Given the description of an element on the screen output the (x, y) to click on. 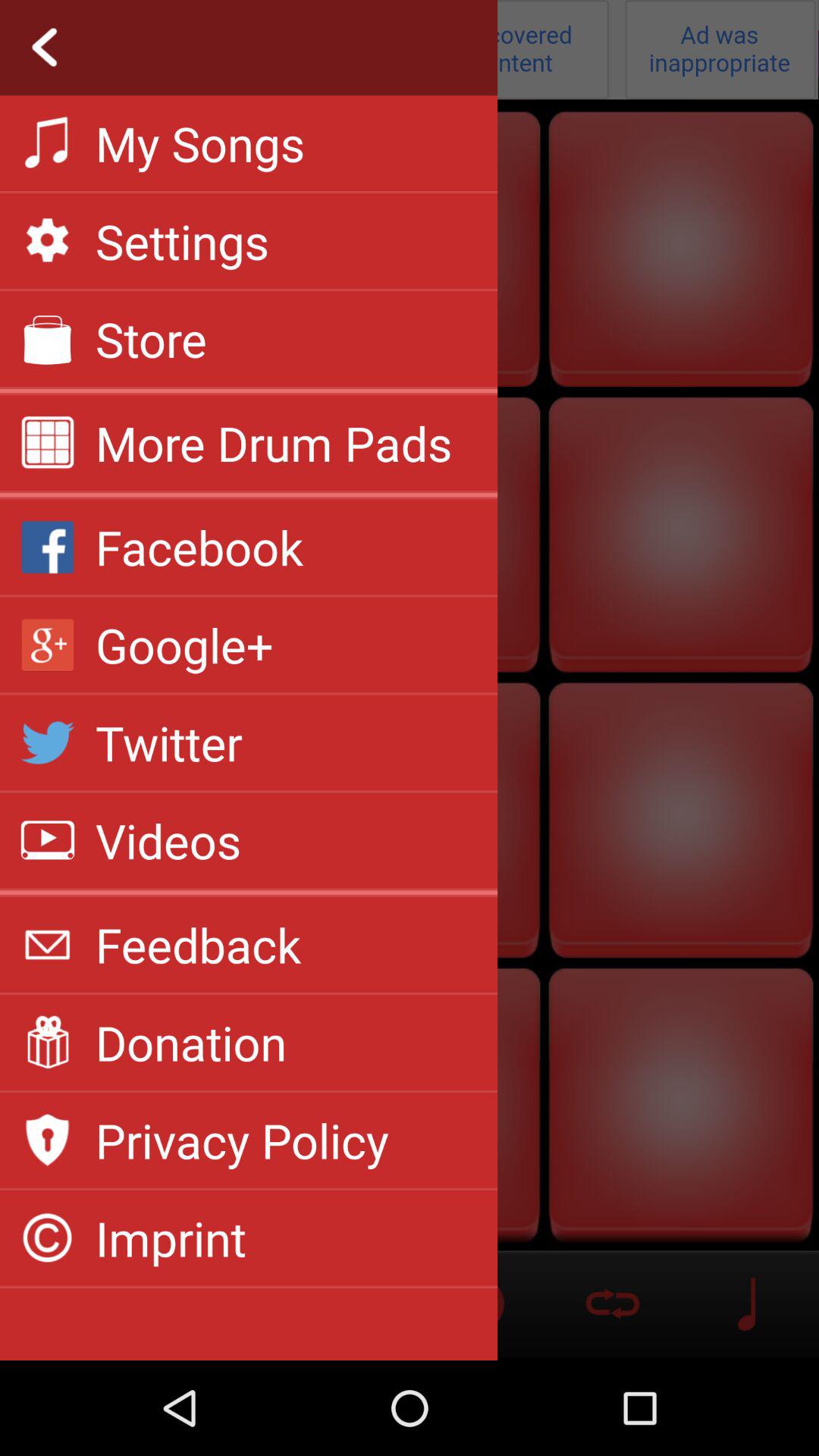
return back (409, 49)
